Given the description of an element on the screen output the (x, y) to click on. 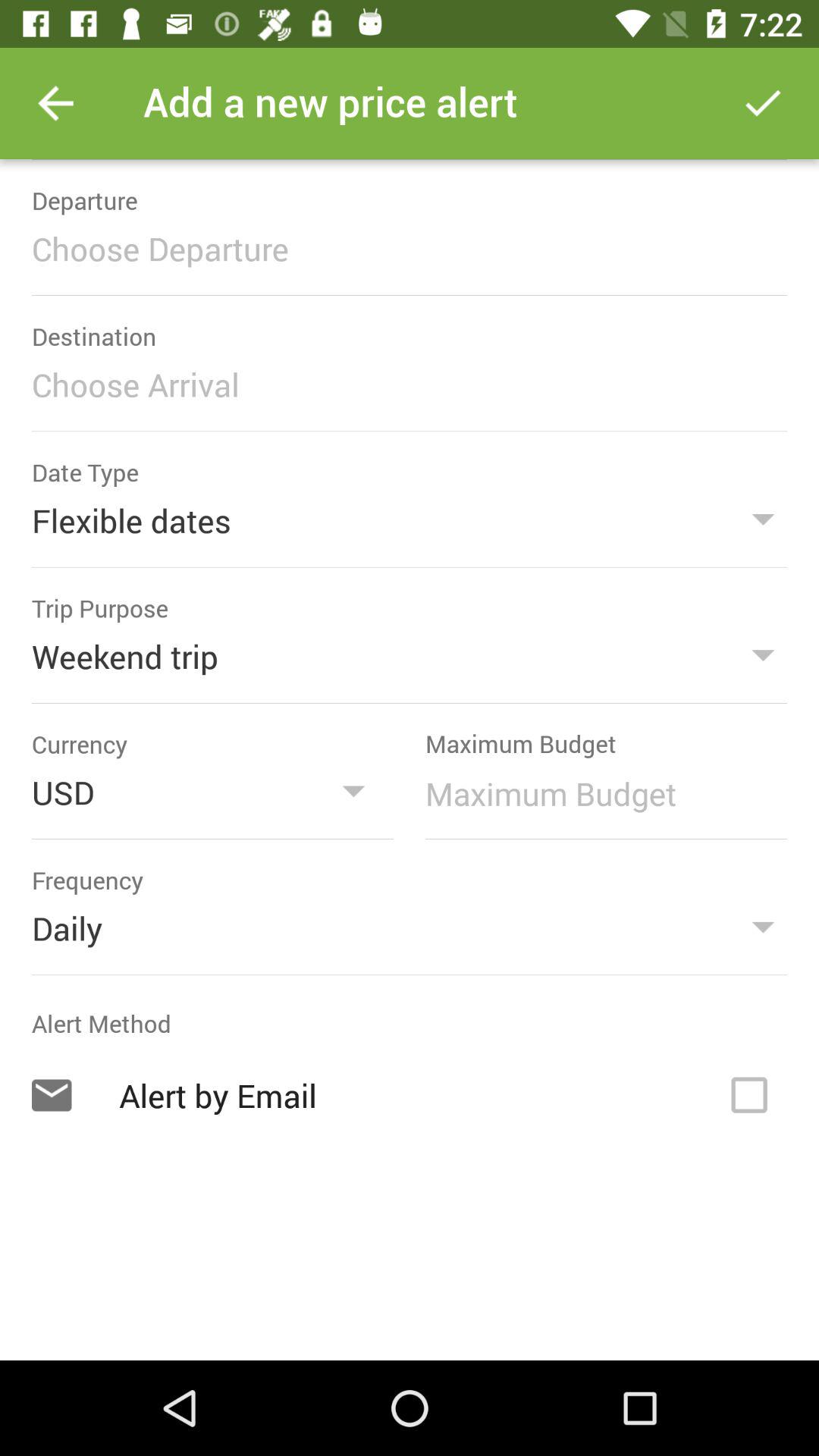
a button for an alert (749, 1094)
